Given the description of an element on the screen output the (x, y) to click on. 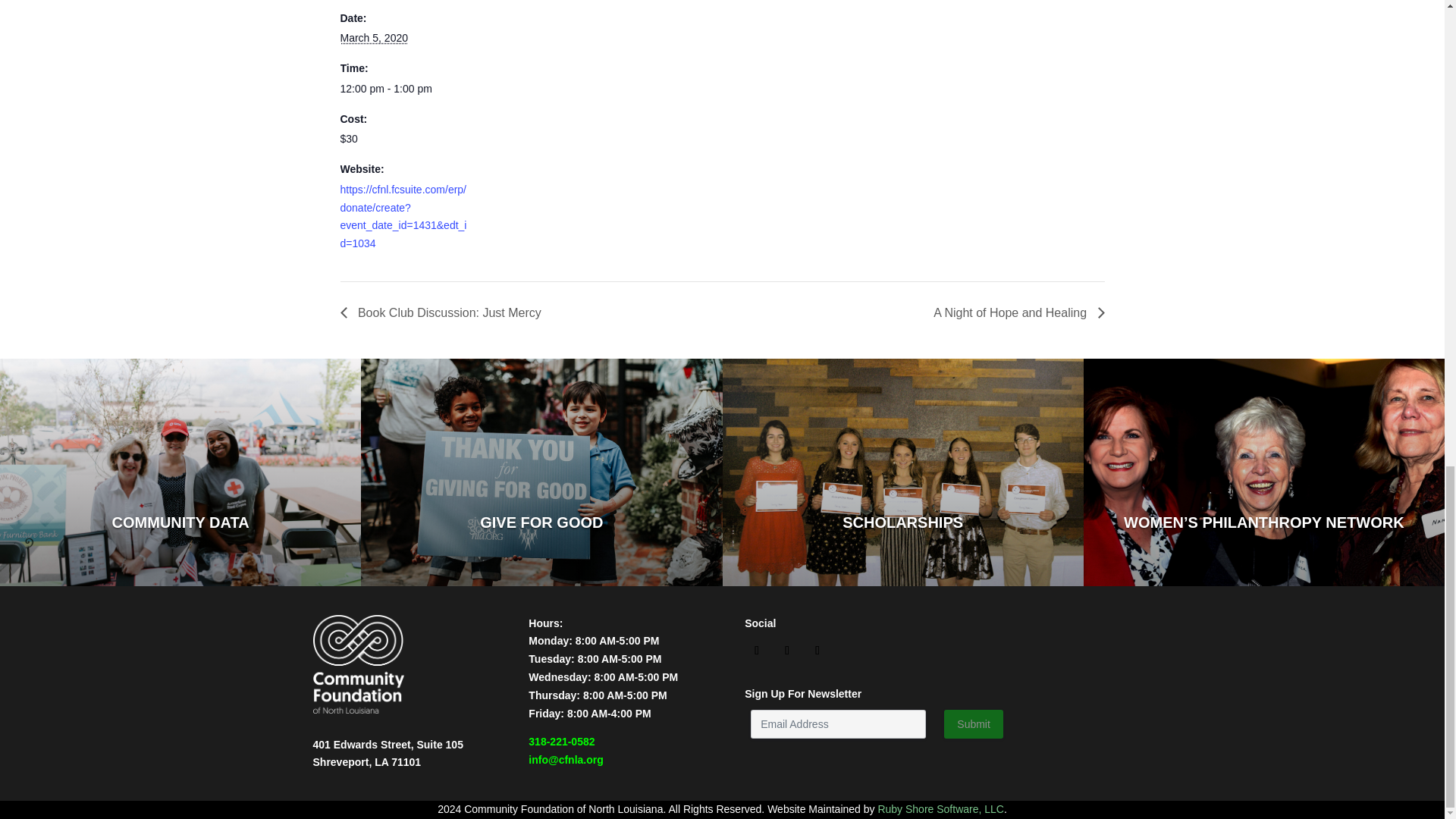
Submit (973, 724)
2020-03-05 (403, 89)
2020-03-05 (373, 37)
Follow on Facebook (756, 650)
Follow on LinkedIn (817, 650)
Follow on Instagram (786, 650)
